Given the description of an element on the screen output the (x, y) to click on. 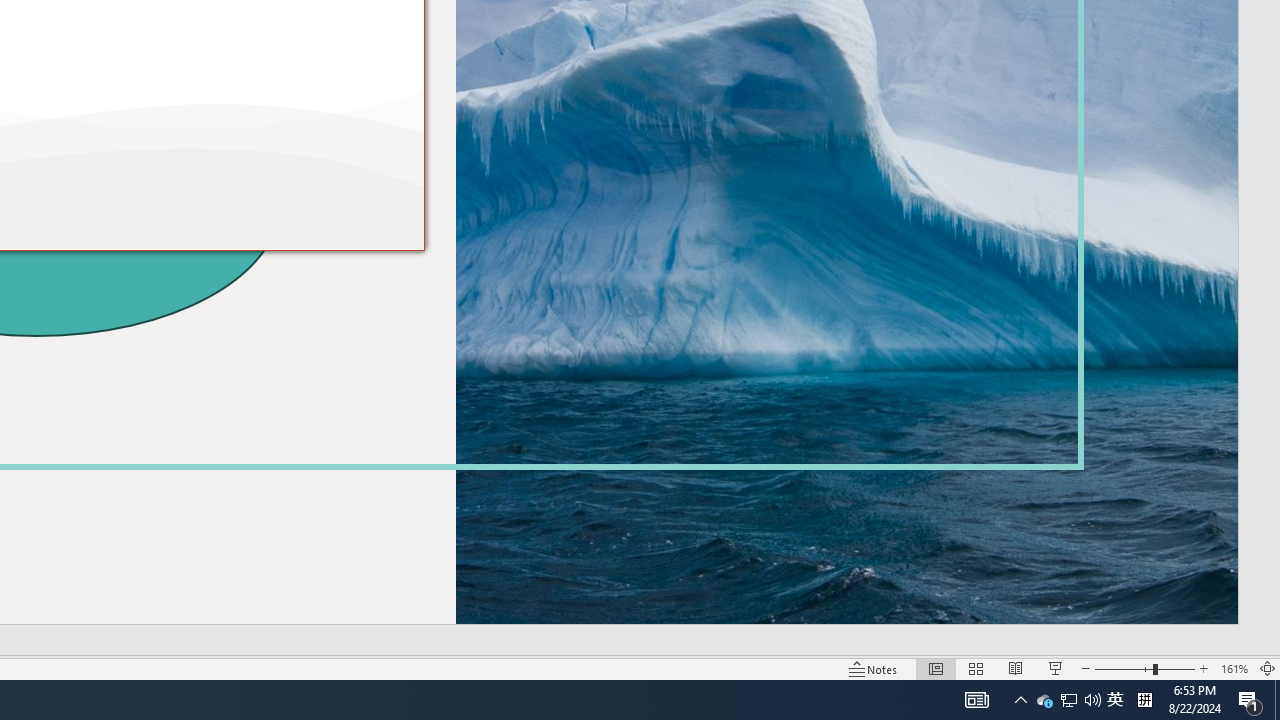
Zoom 161% (1044, 699)
